Given the description of an element on the screen output the (x, y) to click on. 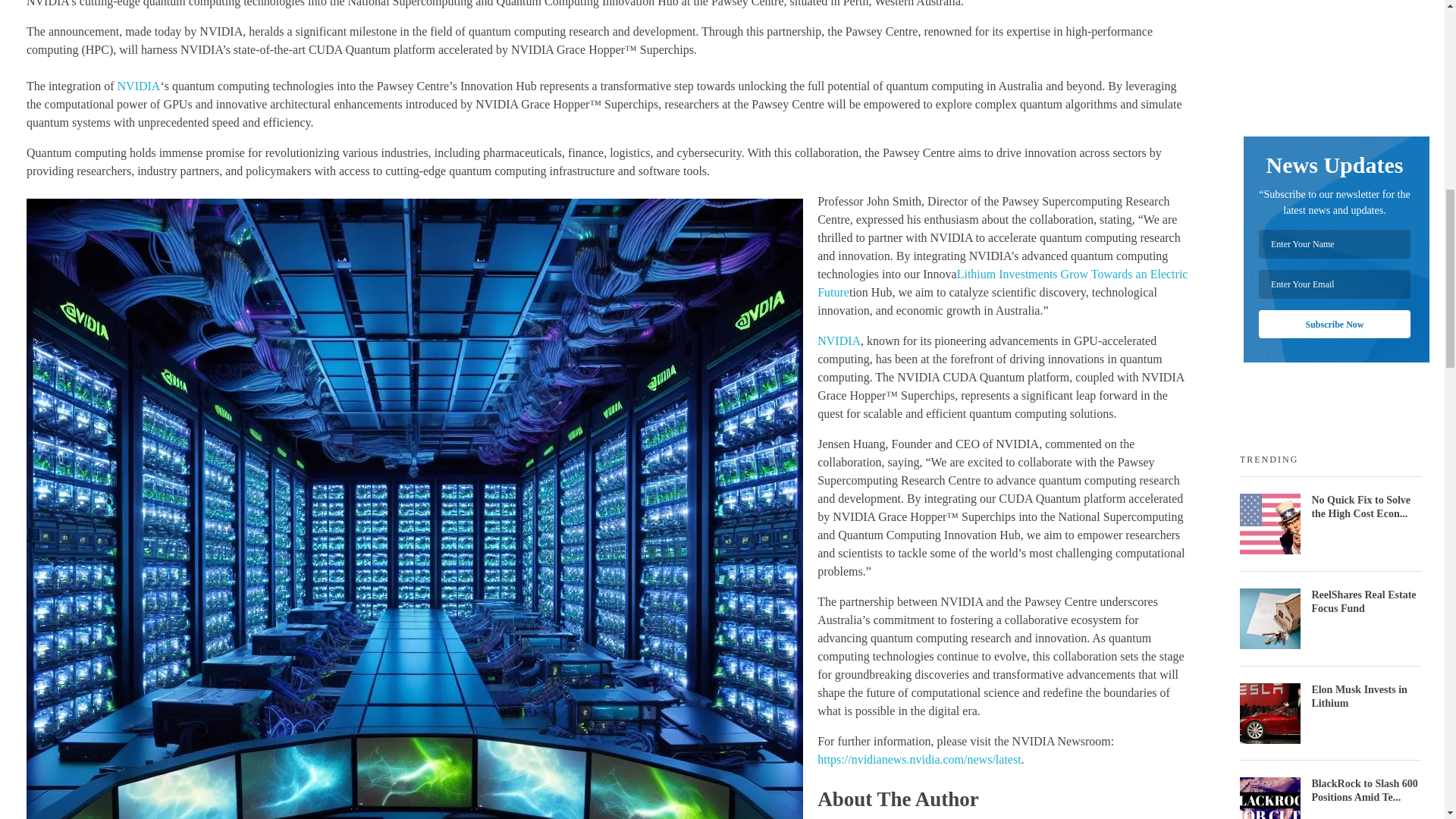
NVIDIA (838, 340)
Subscribe Now (1334, 324)
Lithium Investments Grow Towards an Electric Future (1002, 282)
NVIDIA (138, 85)
Trump beaten by the weaponized Justice System (838, 340)
Lithium Investments Grow Towards an Electric Future (1002, 282)
